Given the description of an element on the screen output the (x, y) to click on. 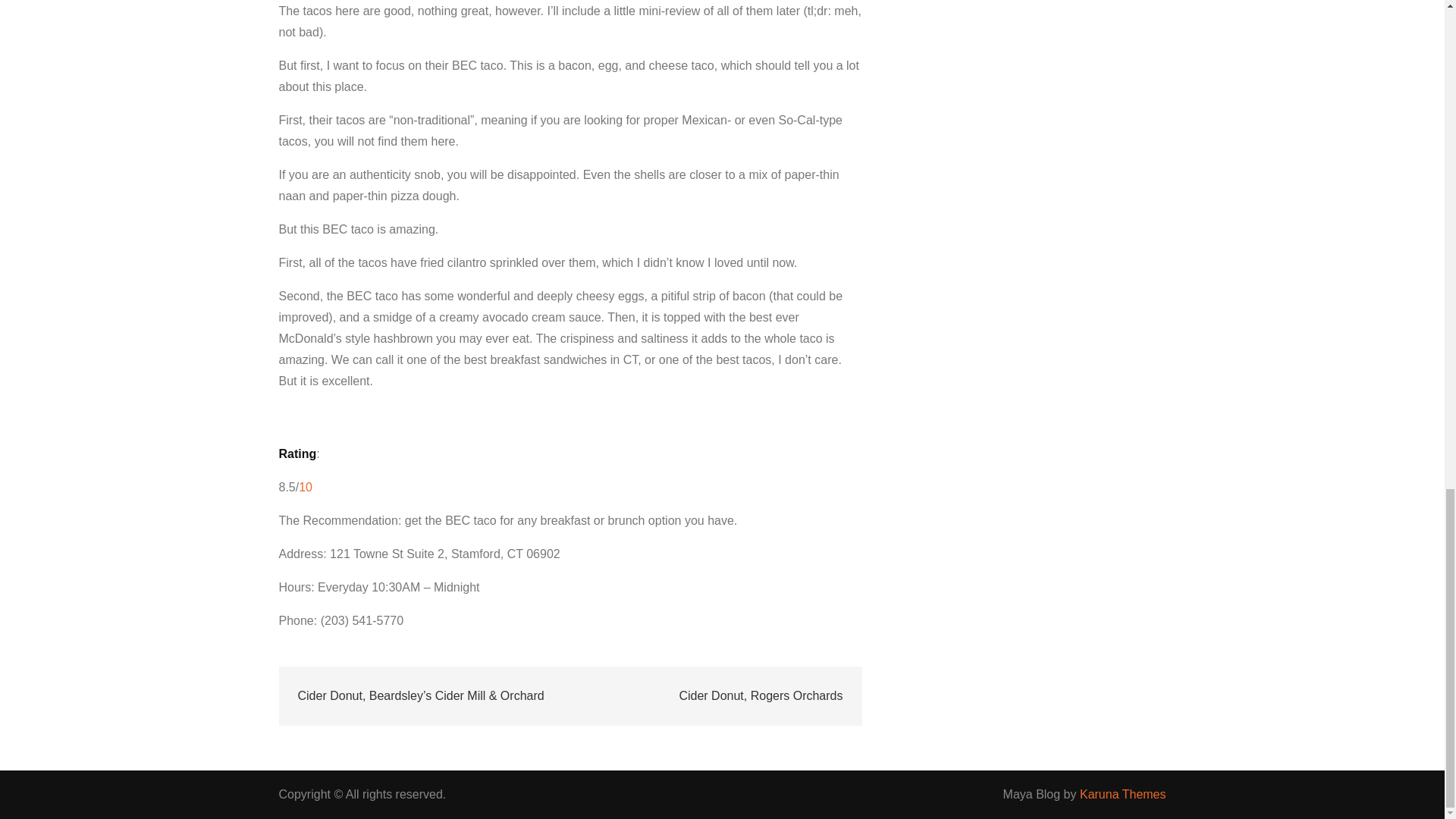
Cider Donut, Rogers Orchards (760, 695)
10 (305, 486)
Karuna Themes (1123, 793)
